Given the description of an element on the screen output the (x, y) to click on. 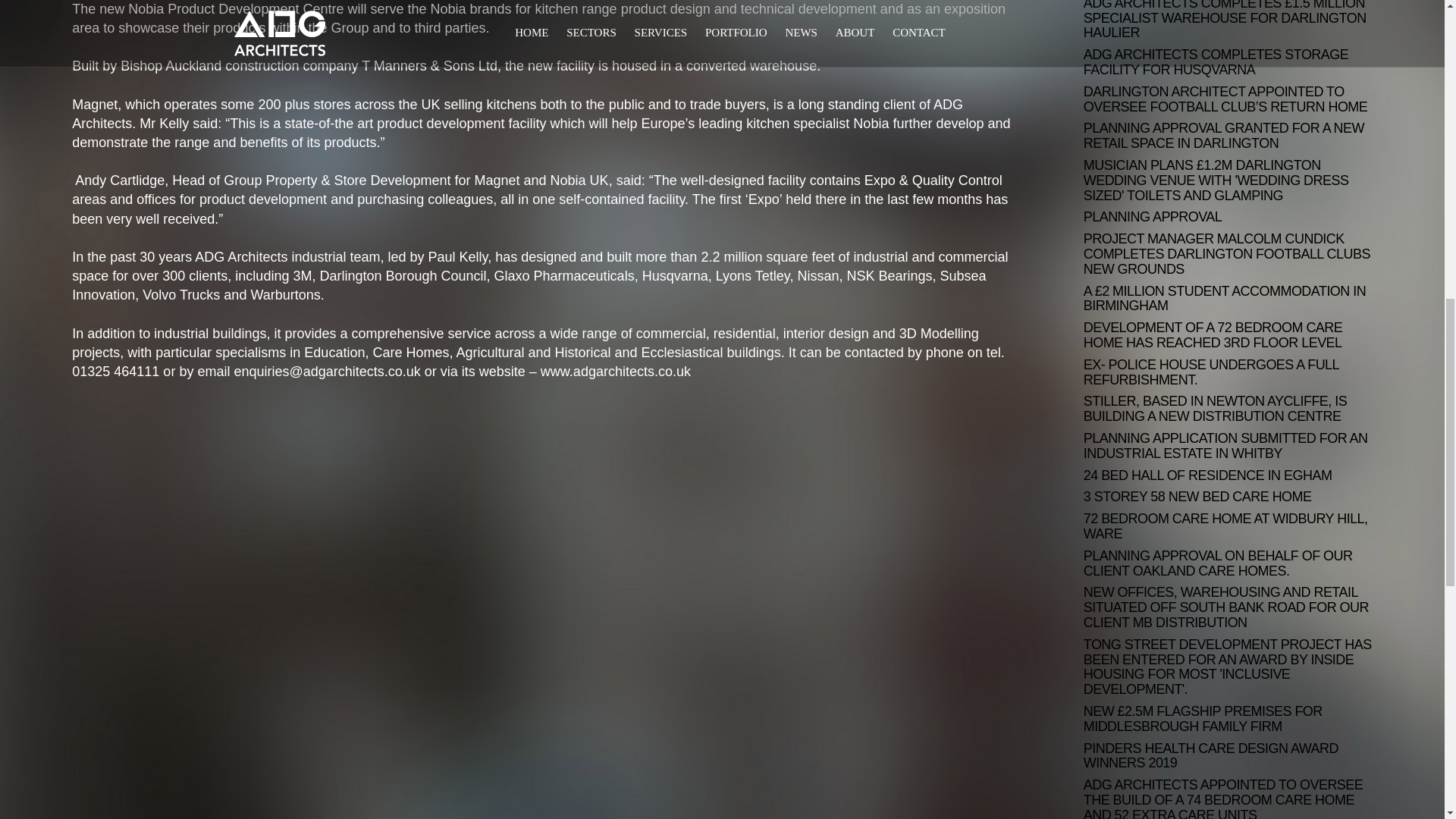
ADG ARCHITECTS COMPLETES STORAGE FACILITY FOR HUSQVARNA (1228, 62)
